Given the description of an element on the screen output the (x, y) to click on. 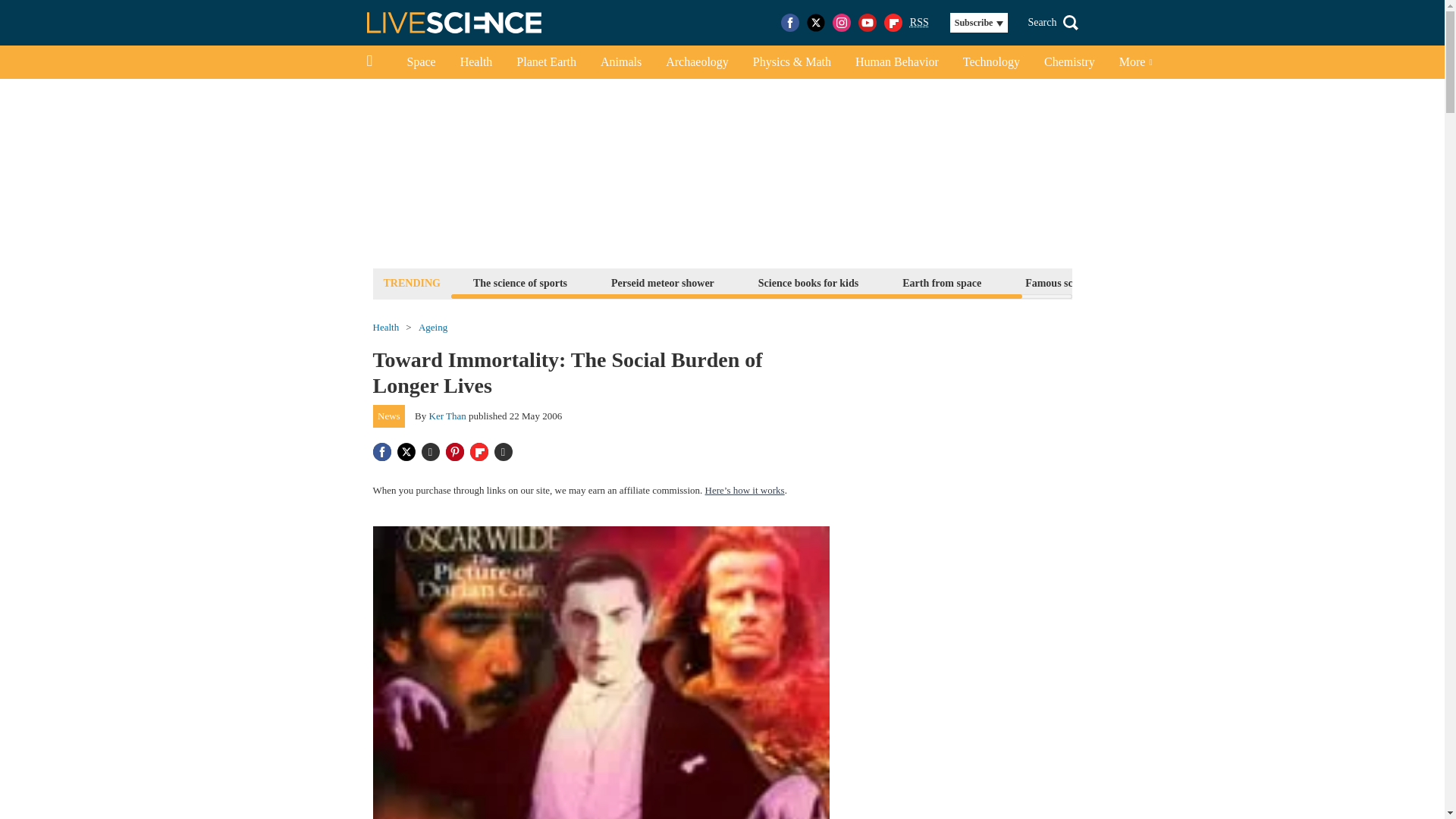
Ker Than (447, 415)
Chemistry (1069, 61)
Ageing (432, 327)
Archaeology (697, 61)
Science books for kids (807, 282)
Space (420, 61)
The science of sports (519, 282)
RSS (919, 22)
News (389, 415)
Health (476, 61)
